Given the description of an element on the screen output the (x, y) to click on. 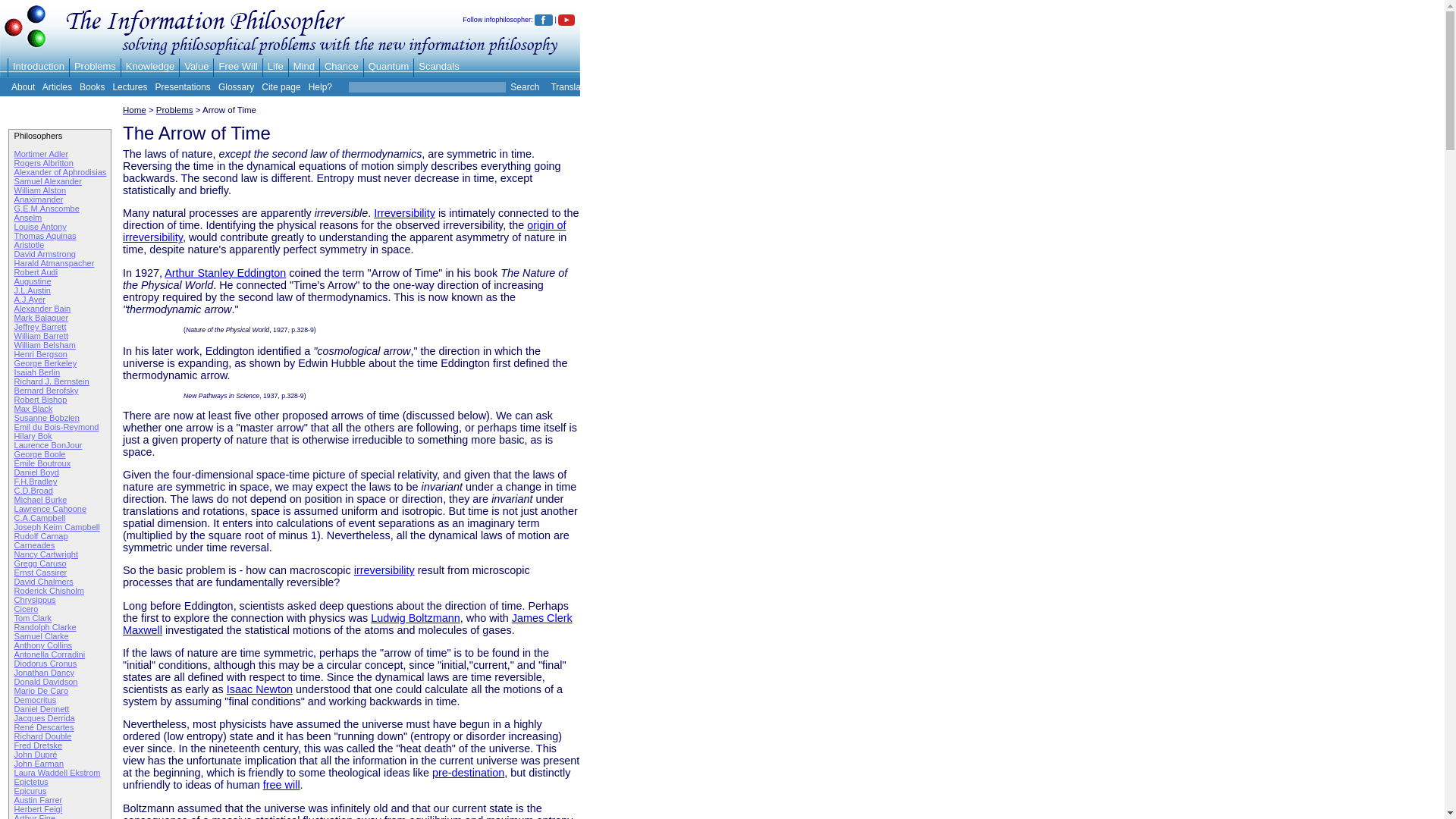
 Search (523, 86)
Value (196, 66)
Glossary (235, 86)
Life (275, 66)
Help? (319, 86)
Glossary of Terms (235, 86)
Knowledge (149, 66)
Books (92, 86)
Lectures on information philosophy (129, 86)
Translate (569, 86)
Introduction (38, 66)
Go to Information Philosopher home page (26, 49)
Mind (304, 66)
Chance (341, 66)
Cite page (280, 86)
